Given the description of an element on the screen output the (x, y) to click on. 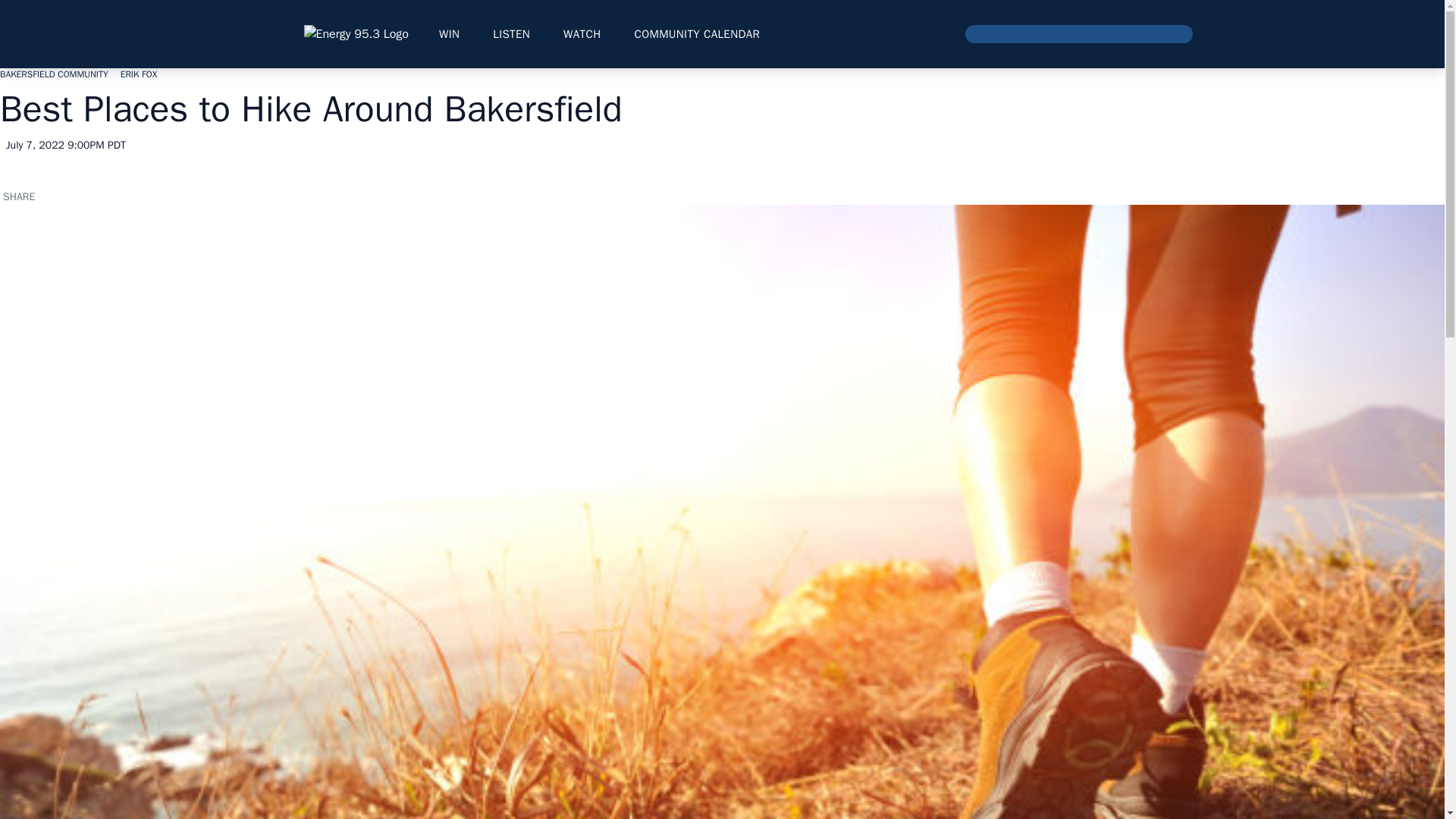
Energy 95.3 (354, 34)
